Given the description of an element on the screen output the (x, y) to click on. 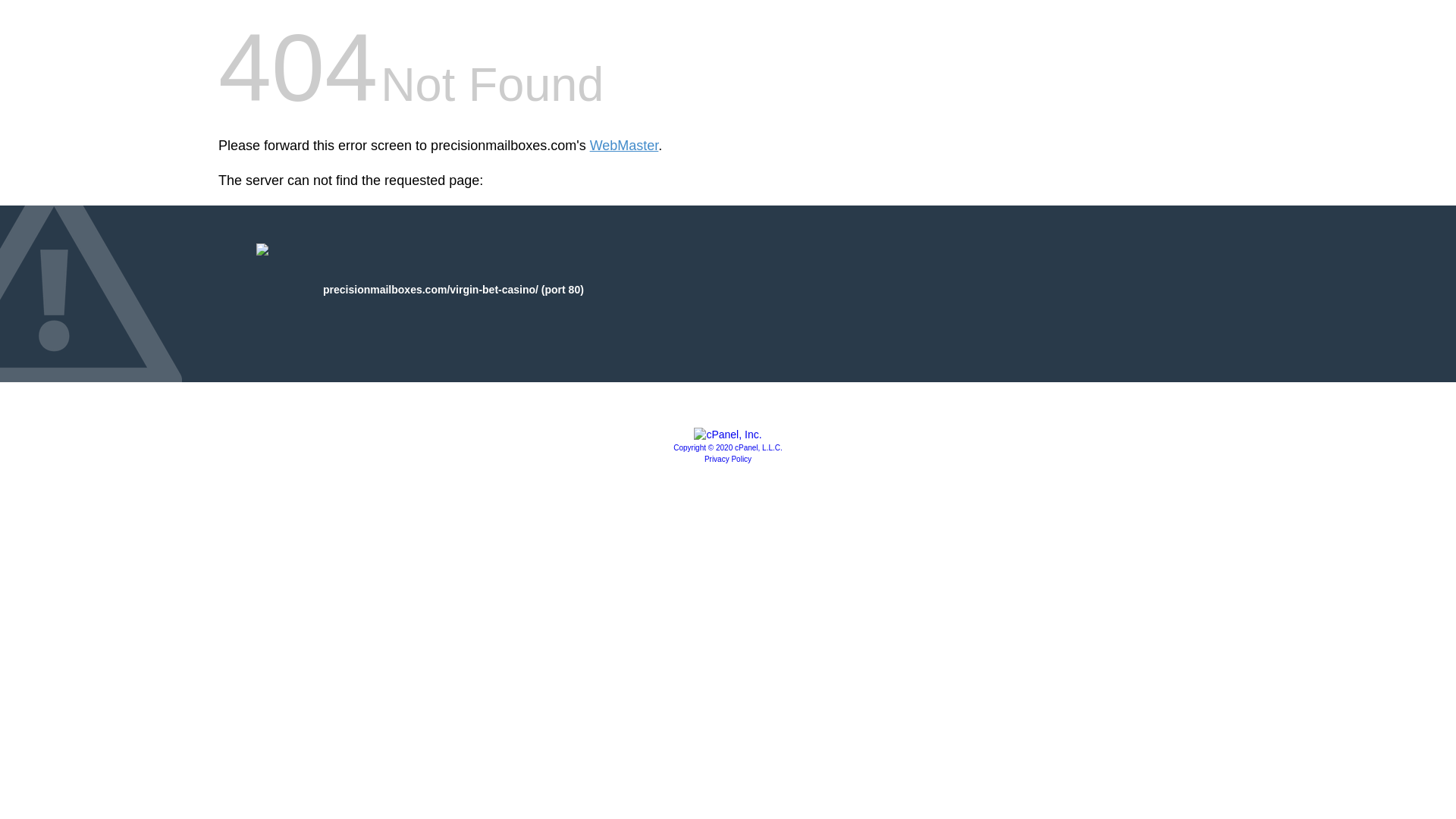
WebMaster (624, 145)
cPanel, Inc. (727, 434)
Privacy Policy (727, 459)
cPanel, Inc. (727, 447)
